Given the description of an element on the screen output the (x, y) to click on. 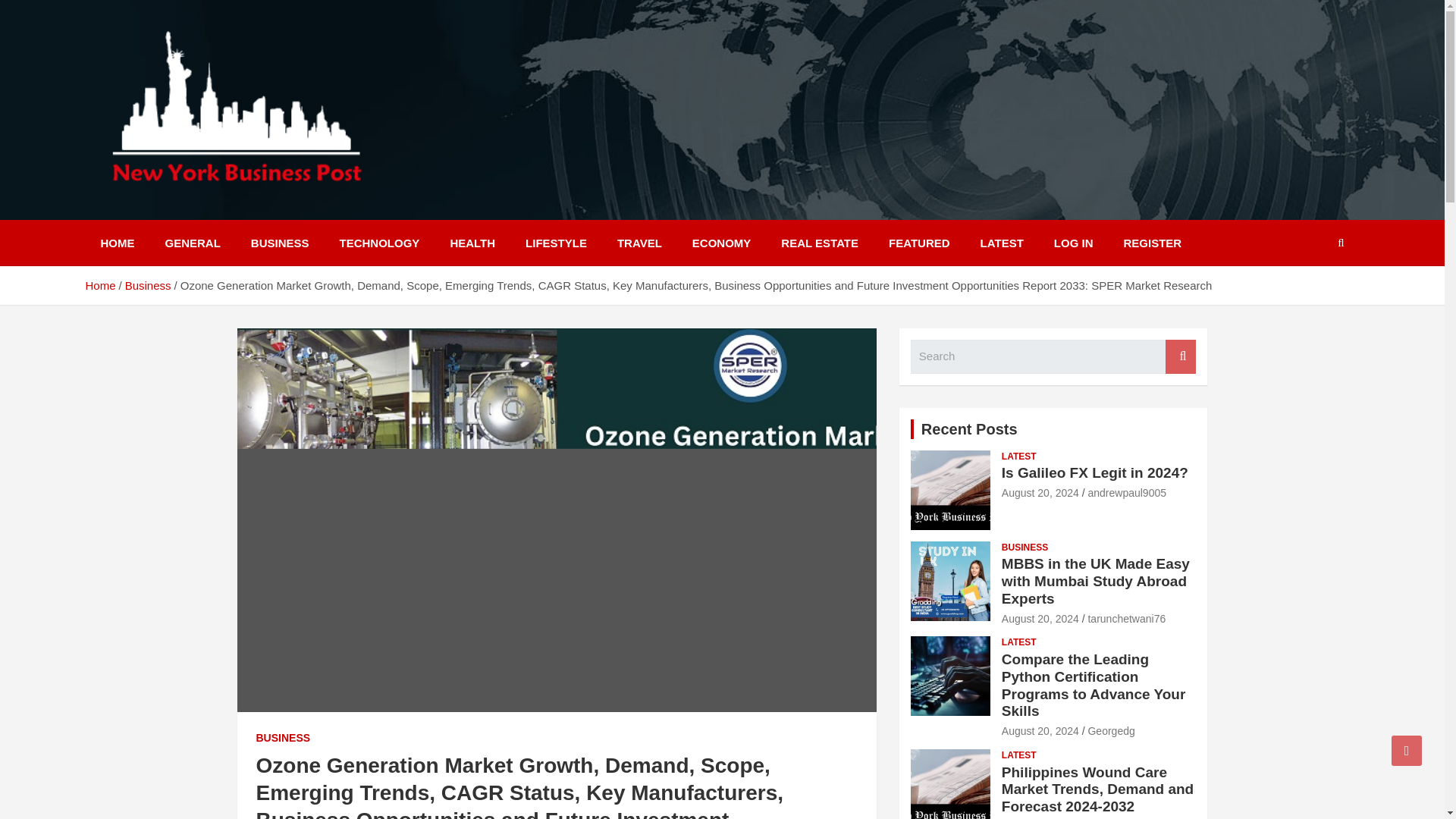
REAL ESTATE (819, 243)
REGISTER (1152, 243)
FEATURED (919, 243)
TECHNOLOGY (379, 243)
Home (99, 285)
LOG IN (1073, 243)
New York Business Post (261, 209)
HEALTH (472, 243)
Business (148, 285)
HOME (116, 243)
